Given the description of an element on the screen output the (x, y) to click on. 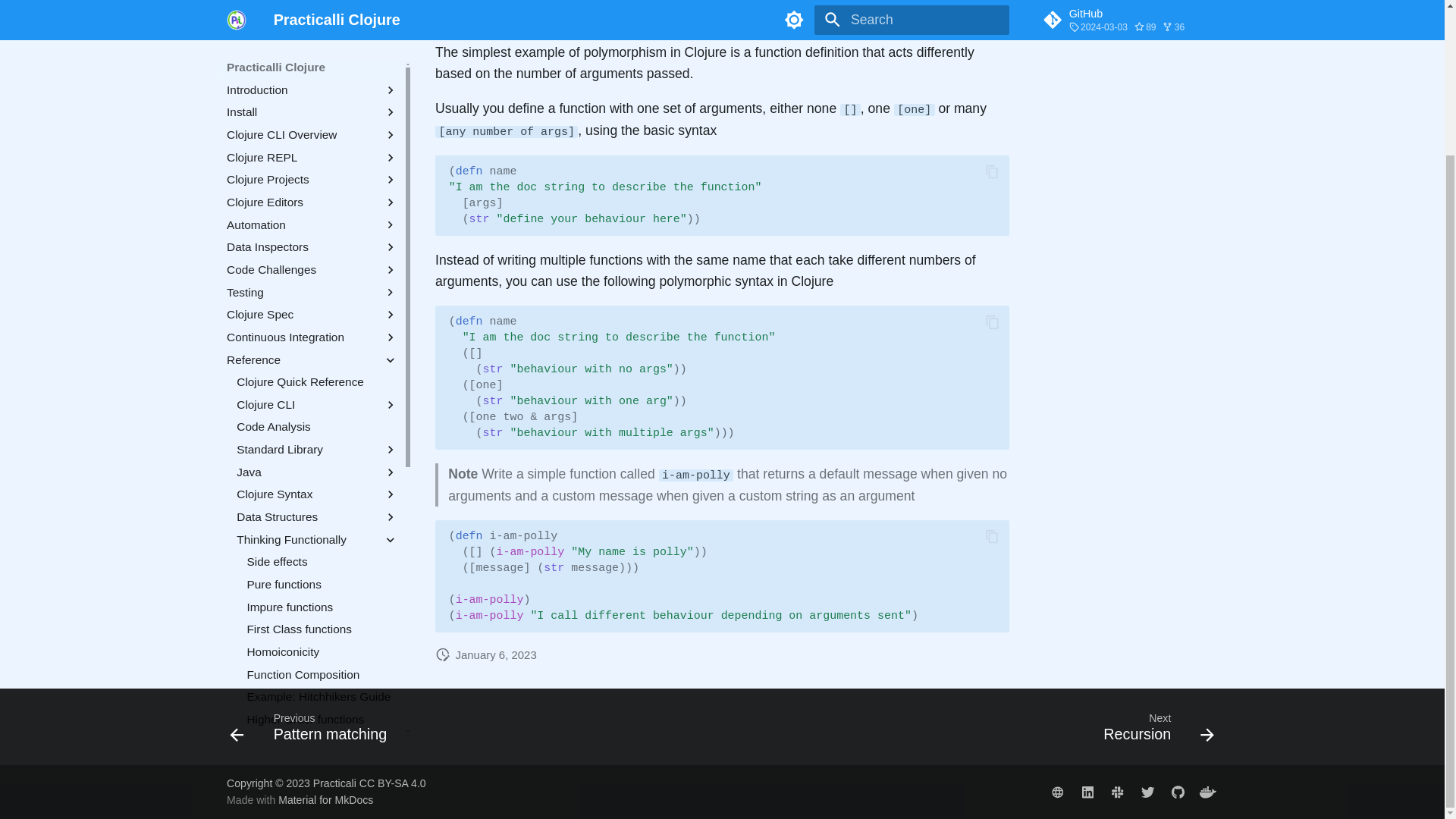
Copy to clipboard (992, 536)
github.com (1177, 791)
www.linkedin.com (1087, 791)
Install (301, 1)
twitter.com (1147, 791)
hub.docker.com (1207, 791)
Copy to clipboard (992, 322)
clojurians.slack.com (1117, 791)
Clojure REPL (301, 39)
Clojure CLI Overview (301, 17)
